Given the description of an element on the screen output the (x, y) to click on. 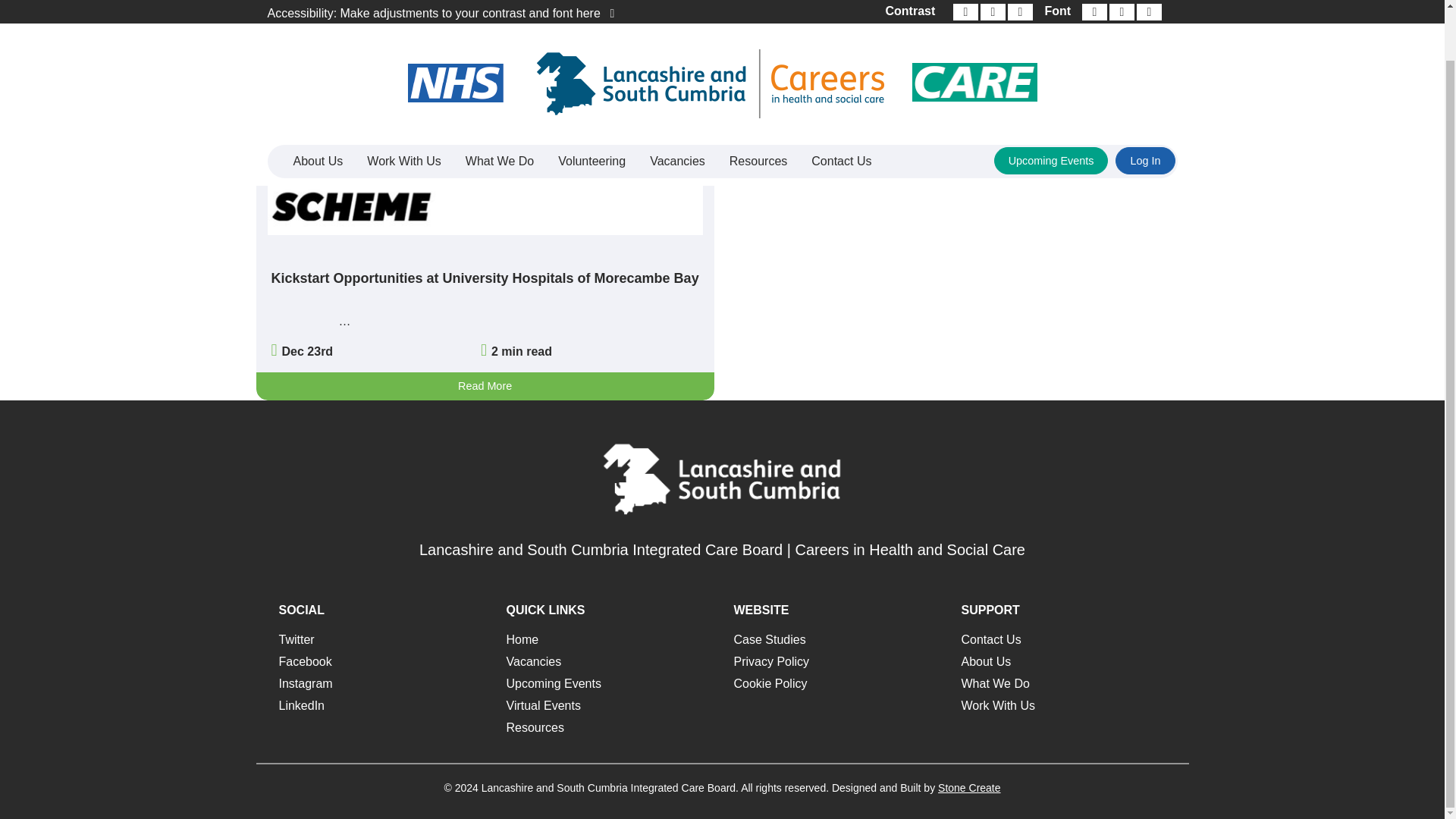
Volunteering (591, 107)
What We Do (499, 107)
About Us (318, 107)
Upcoming Events (1051, 106)
Log In (1144, 106)
Work With Us (403, 107)
Resources (758, 107)
Contact Us (841, 107)
Vacancies (677, 107)
Upcoming Events (1051, 106)
